Given the description of an element on the screen output the (x, y) to click on. 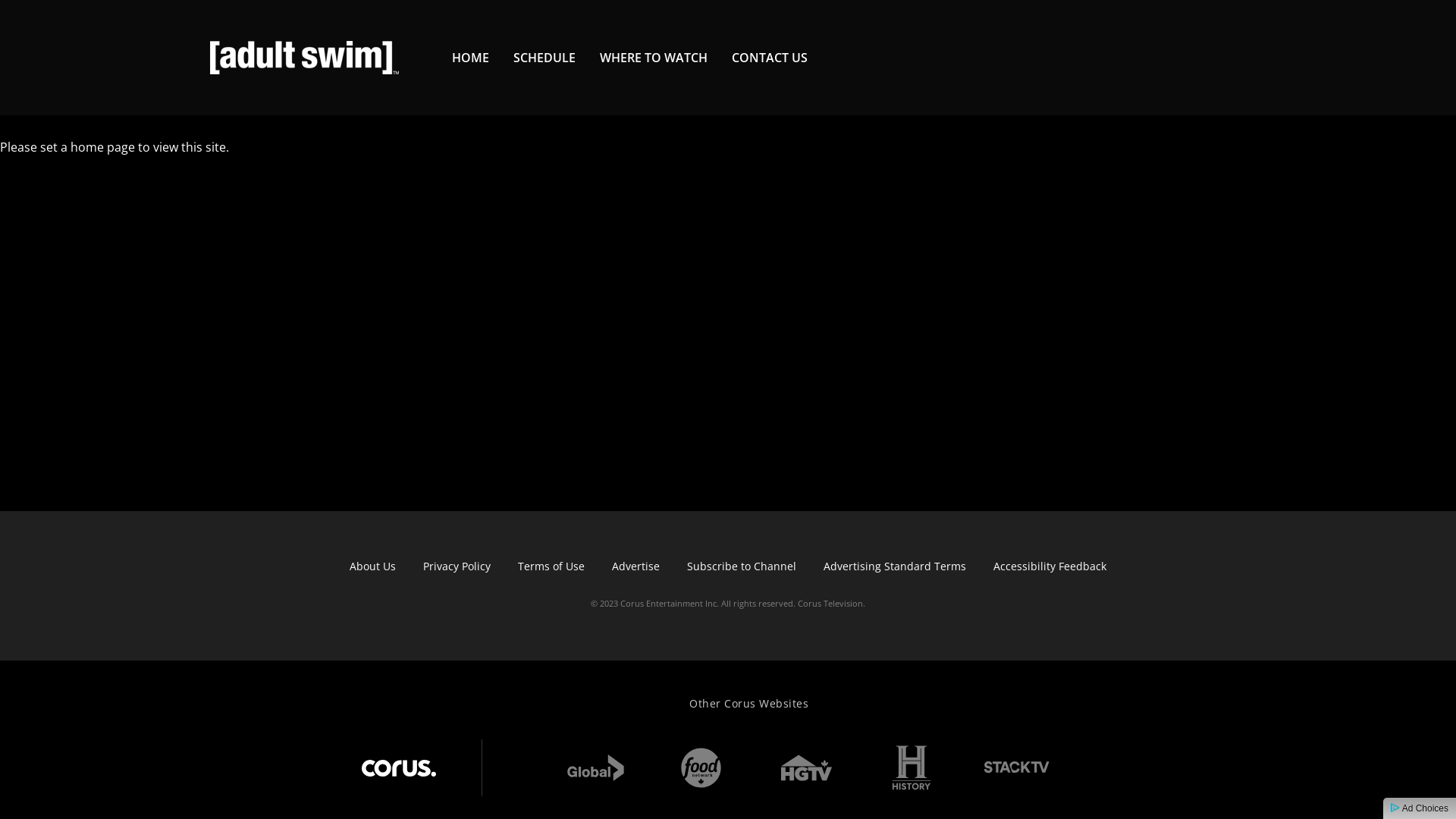
Terms of Use Element type: text (550, 565)
CONTACT US Element type: text (769, 57)
Advertising Standard Terms Element type: text (894, 565)
Ad Choices Element type: text (1419, 808)
Food Network Element type: hover (700, 767)
SCHEDULE Element type: text (544, 57)
Corus Element type: hover (398, 767)
Accessibility Feedback Element type: text (1049, 565)
Global TV Element type: hover (595, 767)
Stacktv Element type: hover (1001, 756)
About Us Element type: text (372, 565)
Privacy Policy Element type: text (456, 565)
WHERE TO WATCH Element type: text (653, 57)
Adult Swim Element type: hover (304, 57)
History Element type: hover (911, 767)
HOME Element type: text (470, 57)
Advertise Element type: text (635, 565)
Subscribe to Channel Element type: text (741, 565)
HGTV Element type: hover (806, 767)
